Given the description of an element on the screen output the (x, y) to click on. 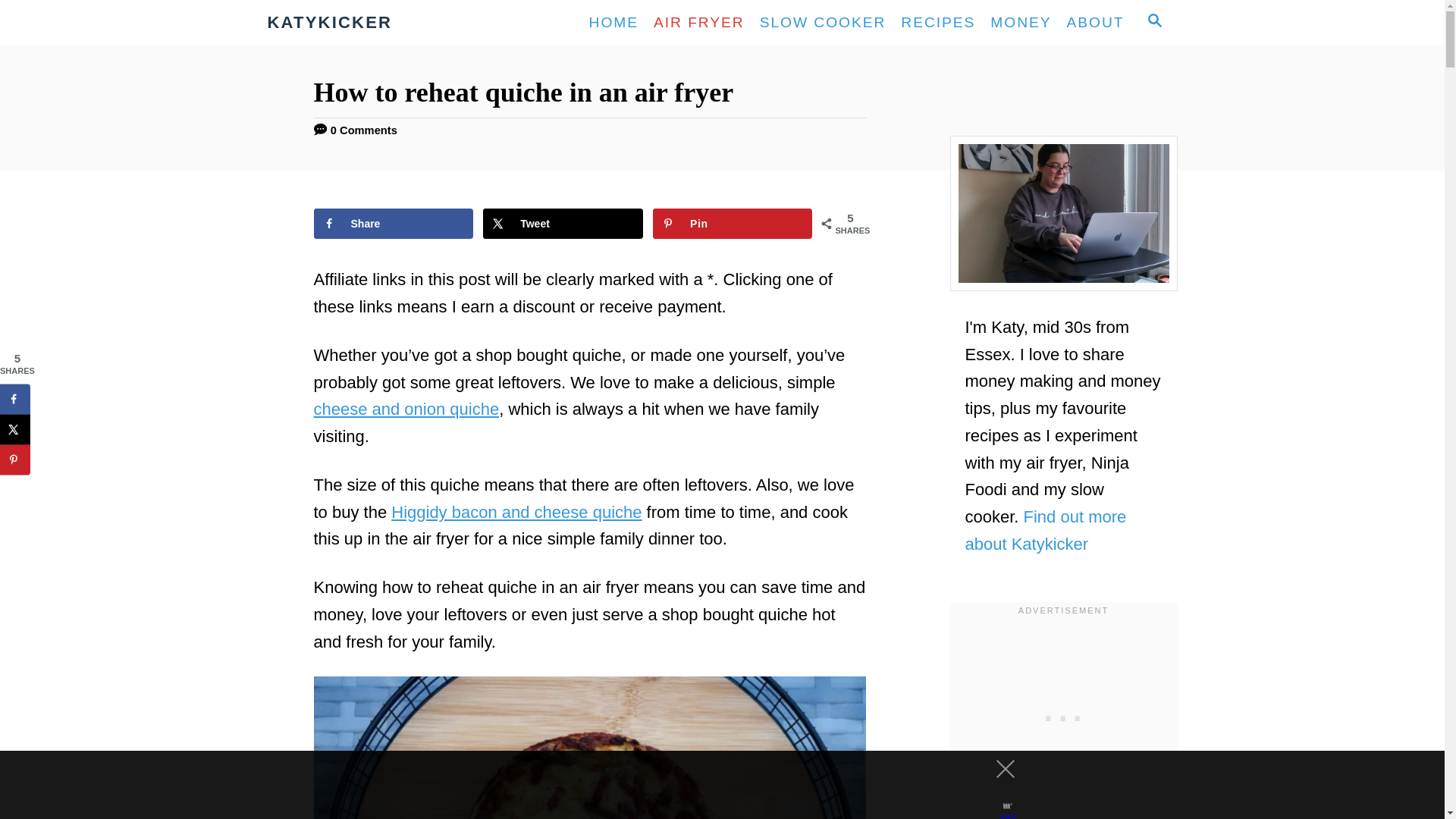
Share on Facebook (394, 223)
Share on X (563, 223)
Save to Pinterest (15, 459)
KATYKICKER (401, 22)
MONEY (1020, 22)
Save to Pinterest (732, 223)
AIR FRYER (699, 22)
3rd party ad content (1062, 714)
SLOW COOKER (822, 22)
RECIPES (937, 22)
Share on X (15, 429)
HOME (613, 22)
Katykicker (401, 22)
ABOUT (1095, 22)
Share on Facebook (15, 399)
